Given the description of an element on the screen output the (x, y) to click on. 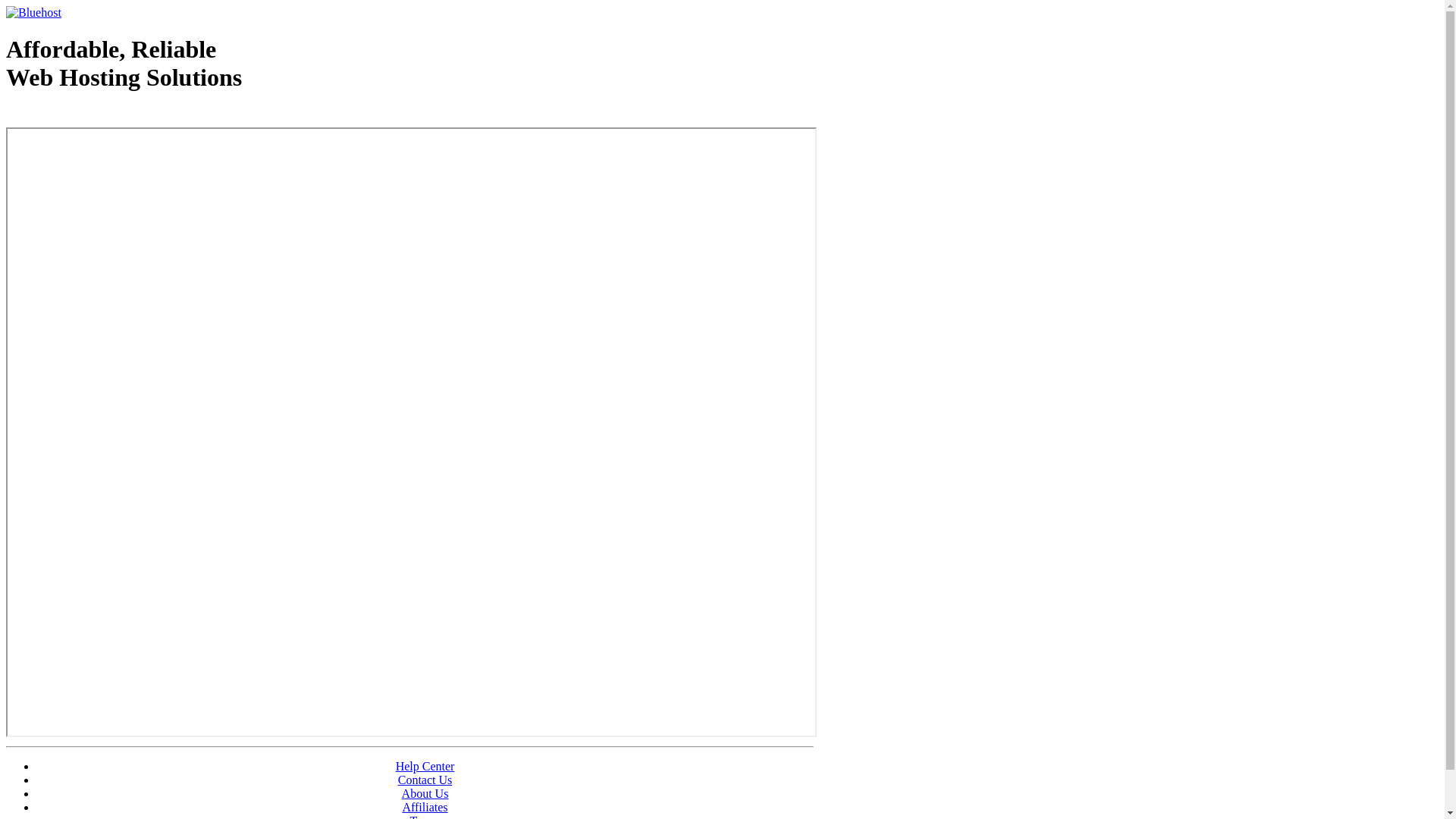
Contact Us Element type: text (425, 779)
Help Center Element type: text (425, 765)
About Us Element type: text (424, 793)
Web Hosting - courtesy of www.bluehost.com Element type: text (94, 115)
Affiliates Element type: text (424, 806)
